Given the description of an element on the screen output the (x, y) to click on. 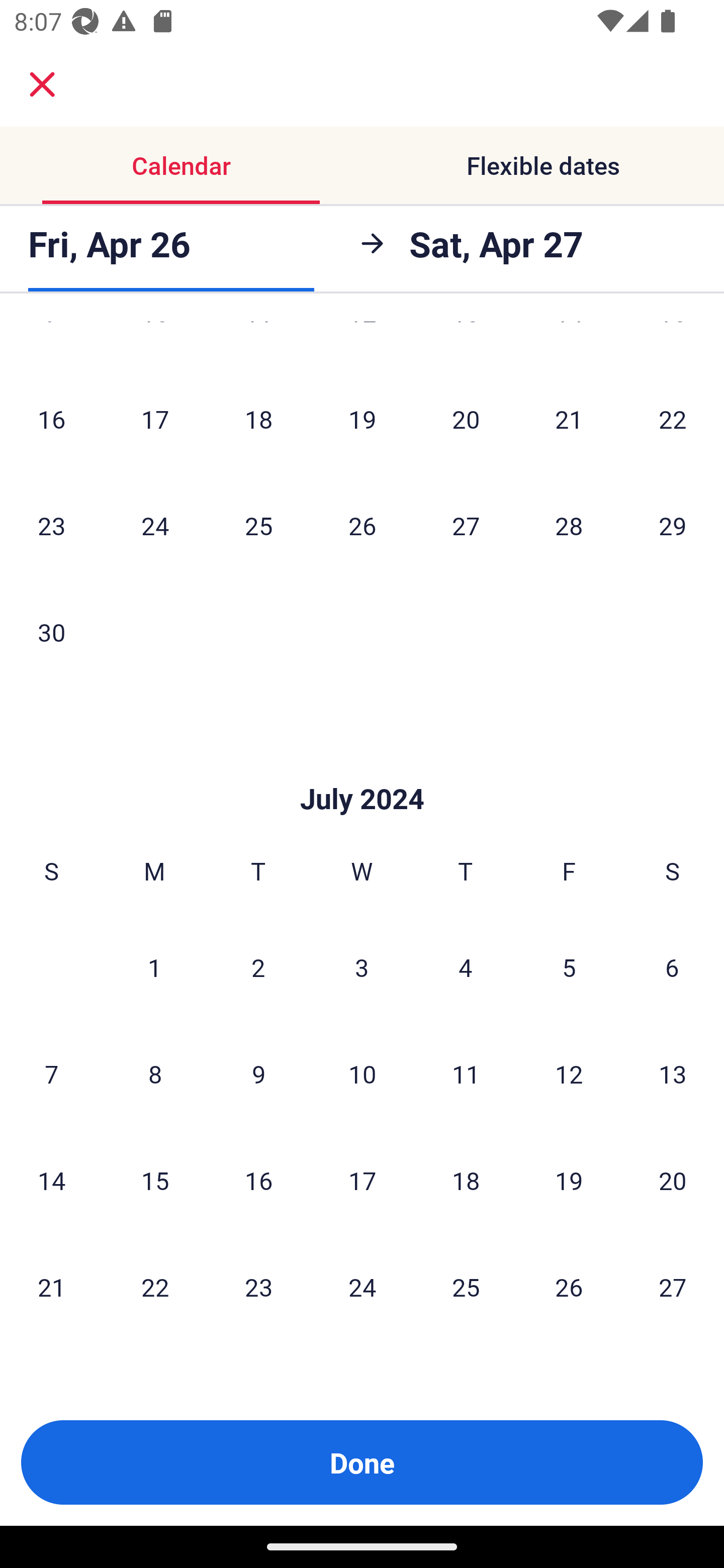
close. (42, 84)
Flexible dates (542, 164)
16 Sunday, June 16, 2024 (51, 418)
17 Monday, June 17, 2024 (155, 418)
18 Tuesday, June 18, 2024 (258, 418)
19 Wednesday, June 19, 2024 (362, 418)
20 Thursday, June 20, 2024 (465, 418)
21 Friday, June 21, 2024 (569, 418)
22 Saturday, June 22, 2024 (672, 418)
23 Sunday, June 23, 2024 (51, 525)
24 Monday, June 24, 2024 (155, 525)
25 Tuesday, June 25, 2024 (258, 525)
26 Wednesday, June 26, 2024 (362, 525)
27 Thursday, June 27, 2024 (465, 525)
28 Friday, June 28, 2024 (569, 525)
29 Saturday, June 29, 2024 (672, 525)
30 Sunday, June 30, 2024 (51, 631)
Skip to Done (362, 767)
1 Monday, July 1, 2024 (154, 967)
2 Tuesday, July 2, 2024 (257, 967)
